Given the description of an element on the screen output the (x, y) to click on. 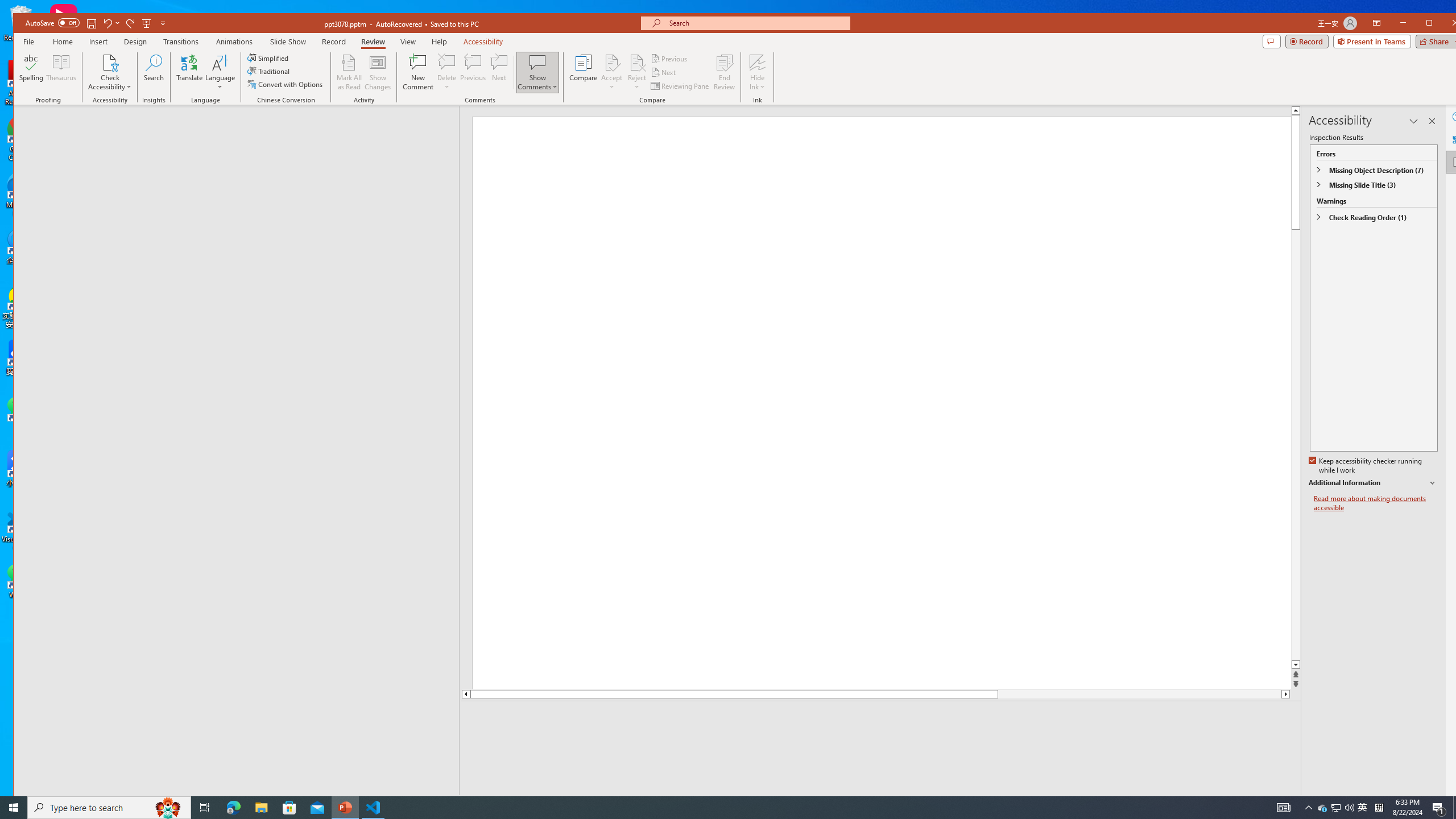
Microsoft search (755, 23)
Show Comments (537, 72)
Check Accessibility (109, 61)
Additional Information (1373, 482)
Reviewing Pane (680, 85)
Slide Notes (881, 717)
